Given the description of an element on the screen output the (x, y) to click on. 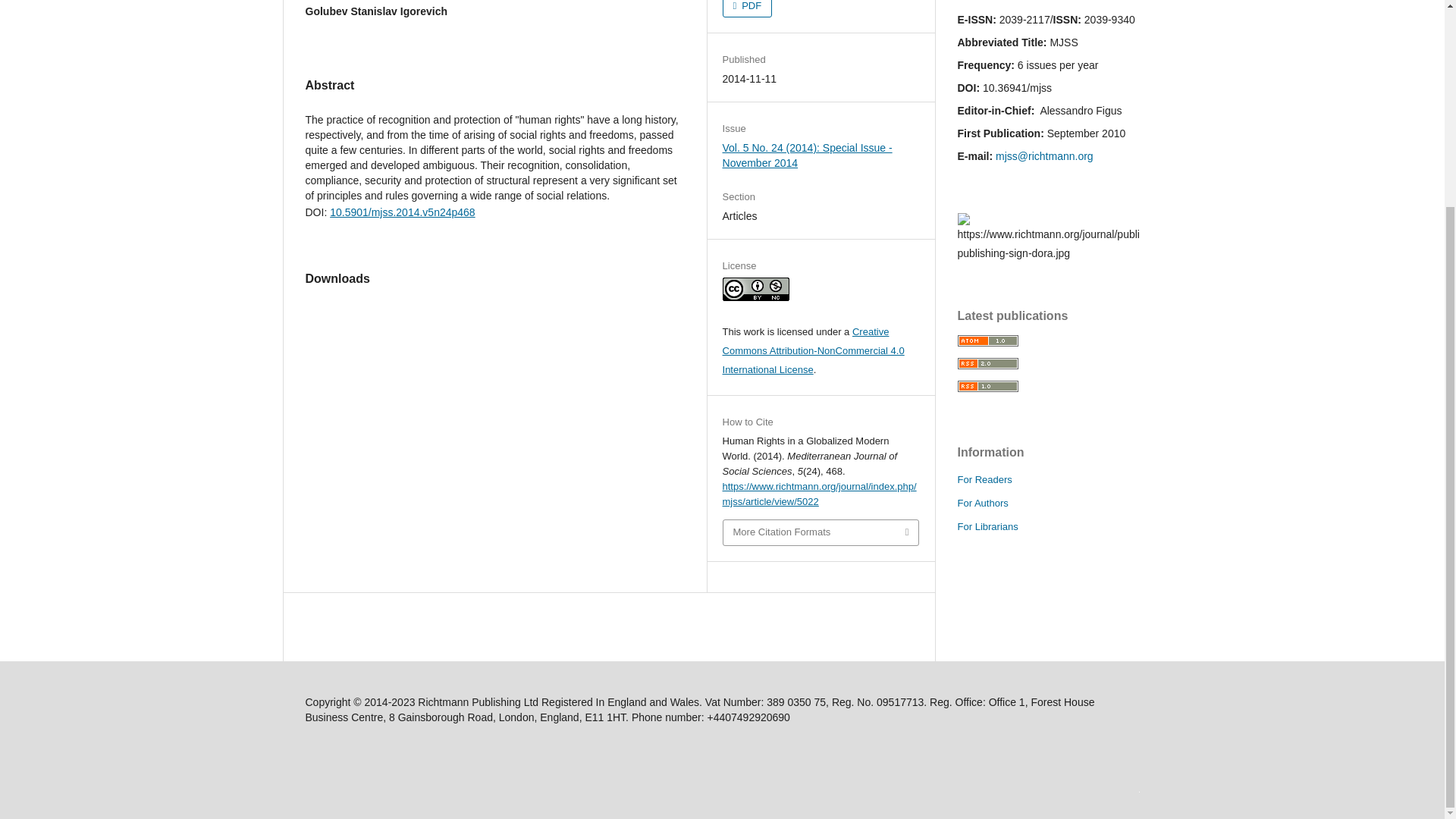
More Citation Formats (820, 532)
PDF (747, 8)
